Given the description of an element on the screen output the (x, y) to click on. 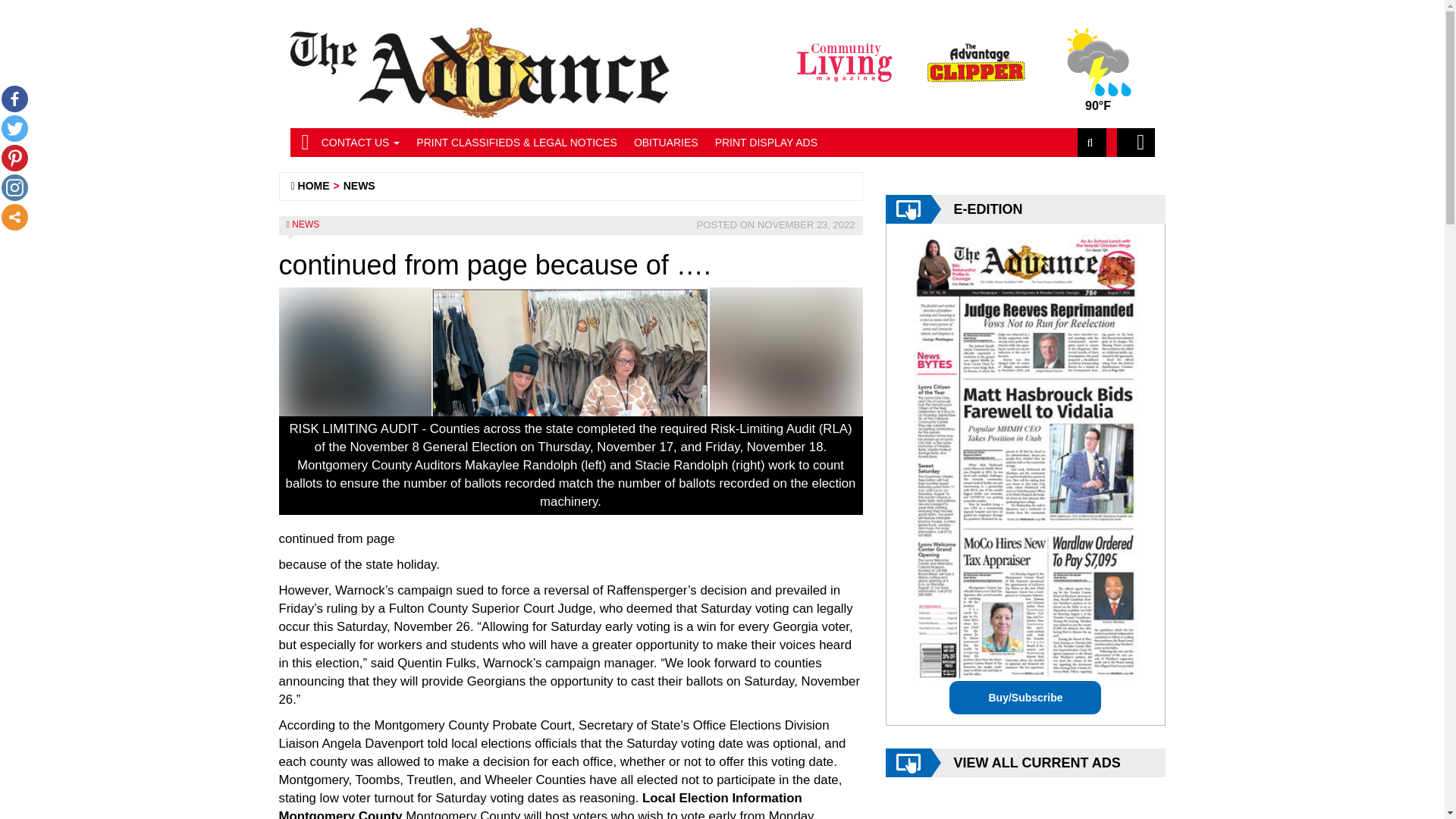
OBITUARIES (666, 142)
ALL SECTIONS (1135, 142)
The Advance News (314, 185)
HOME (314, 185)
Print Display Ads (765, 142)
Pinterest (14, 157)
Contact Us (361, 142)
OBITUARIES (666, 142)
PRINT DISPLAY ADS (765, 142)
Facebook (14, 98)
